Given the description of an element on the screen output the (x, y) to click on. 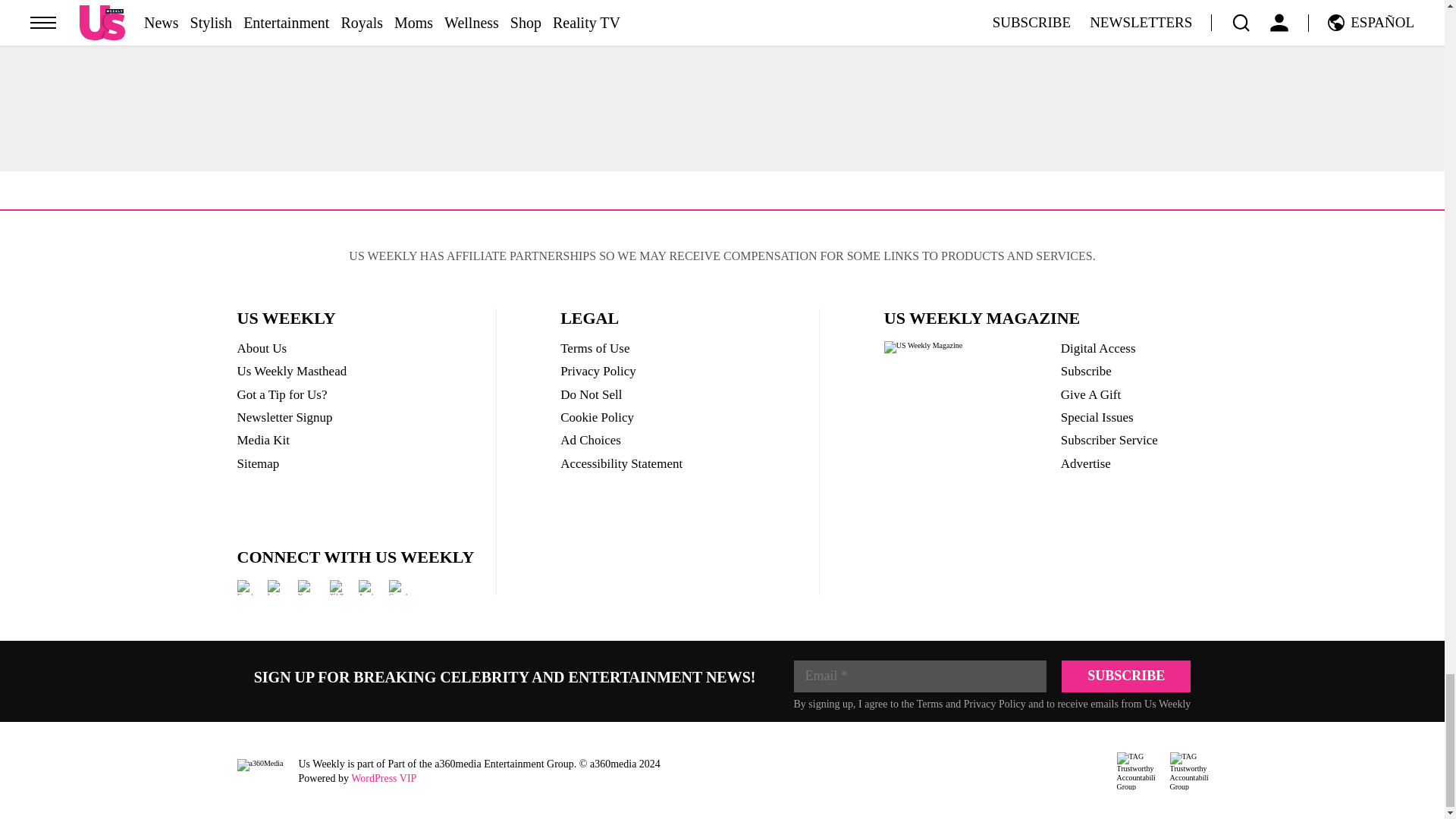
TAG Registered (1135, 771)
TAG Certified Against Fraud (1188, 771)
